Given the description of an element on the screen output the (x, y) to click on. 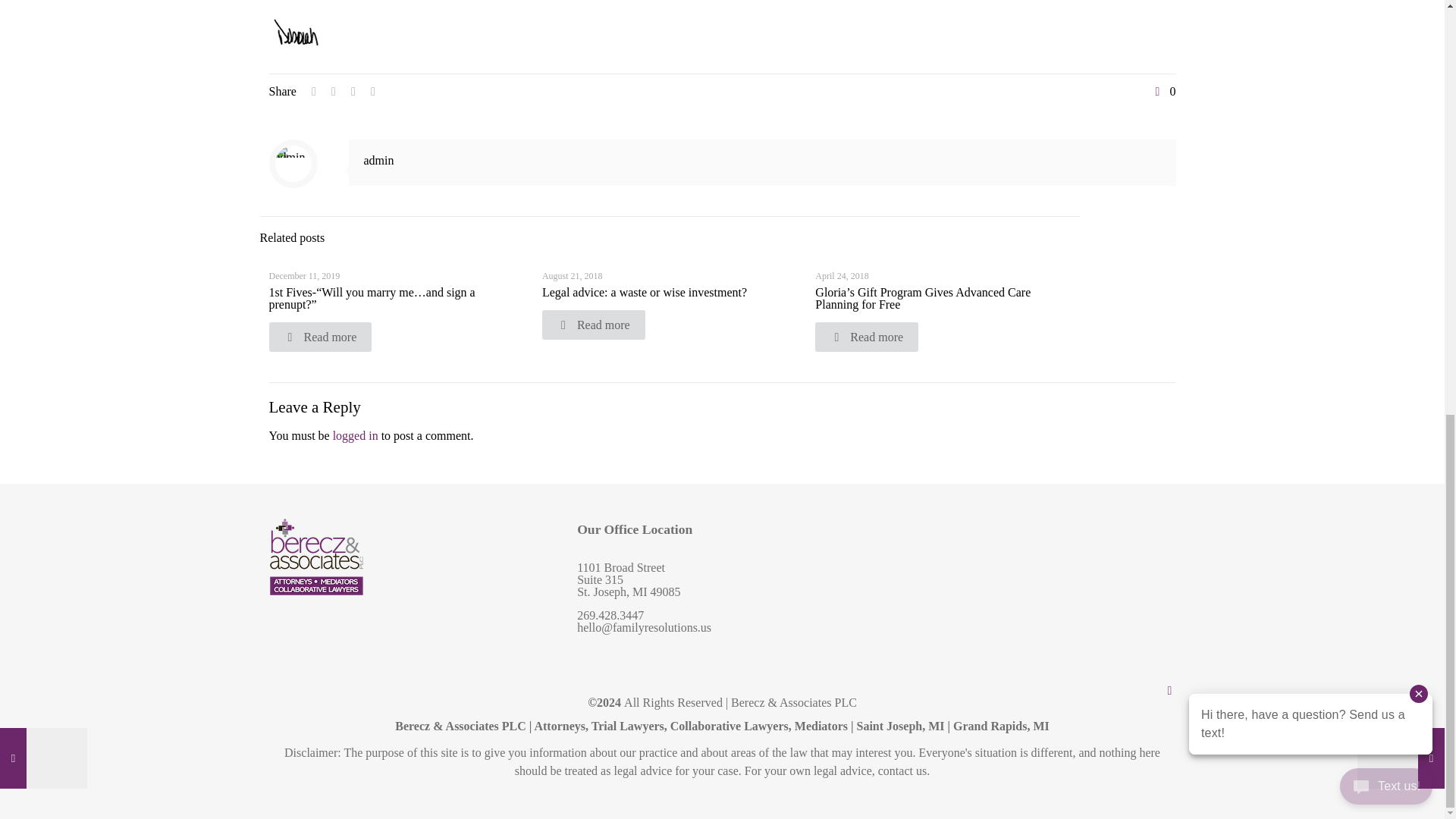
YouTube (1155, 797)
Facebook (1123, 797)
